Given the description of an element on the screen output the (x, y) to click on. 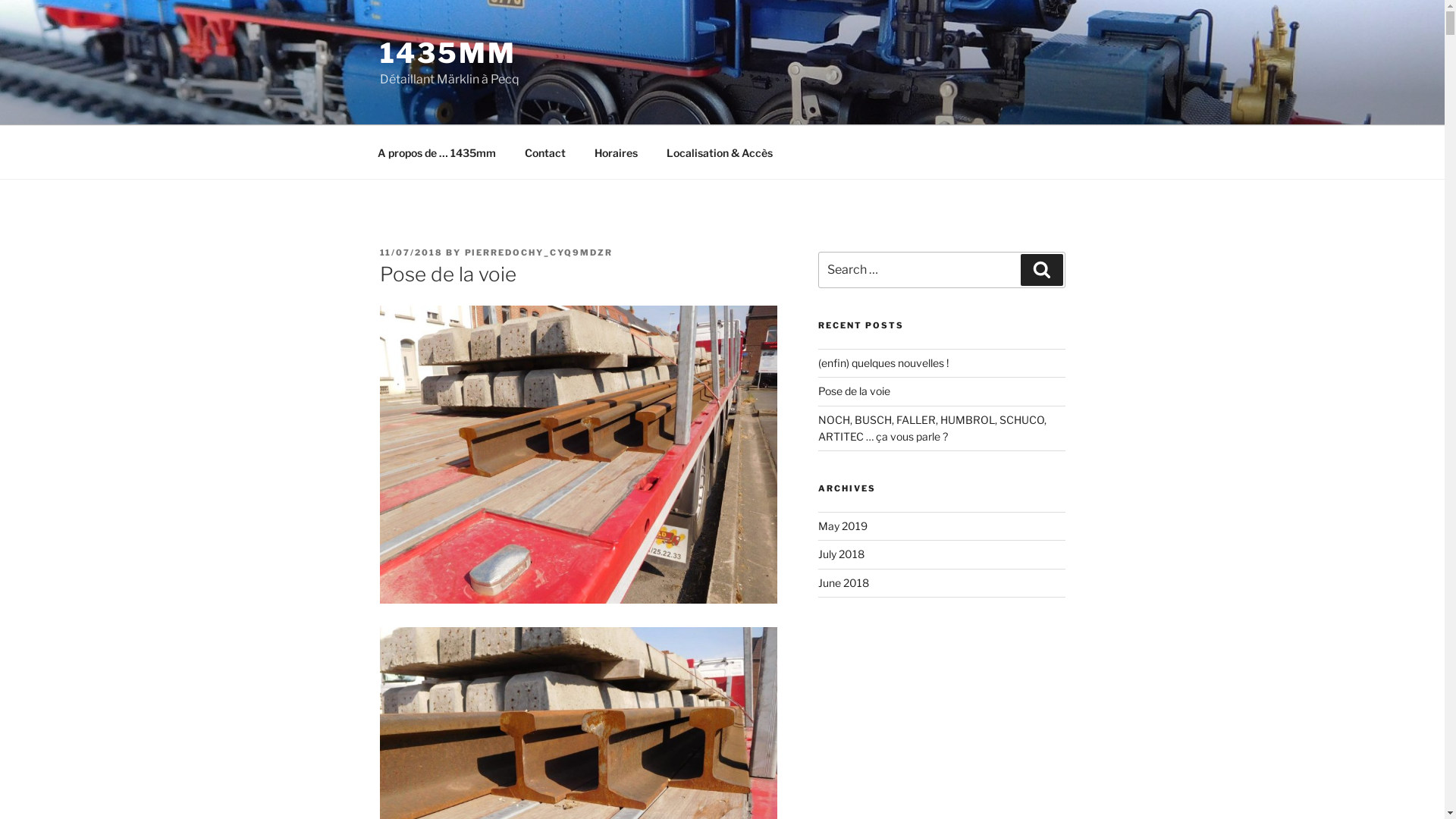
1435MM Element type: text (447, 52)
PIERREDOCHY_CYQ9MDZR Element type: text (538, 252)
Horaires Element type: text (615, 151)
Pose de la voie Element type: text (854, 390)
(enfin) quelques nouvelles ! Element type: text (883, 362)
Search Element type: text (1041, 269)
June 2018 Element type: text (843, 582)
July 2018 Element type: text (841, 553)
May 2019 Element type: text (842, 525)
11/07/2018 Element type: text (410, 252)
Skip to content Element type: text (0, 0)
Contact Element type: text (544, 151)
